Given the description of an element on the screen output the (x, y) to click on. 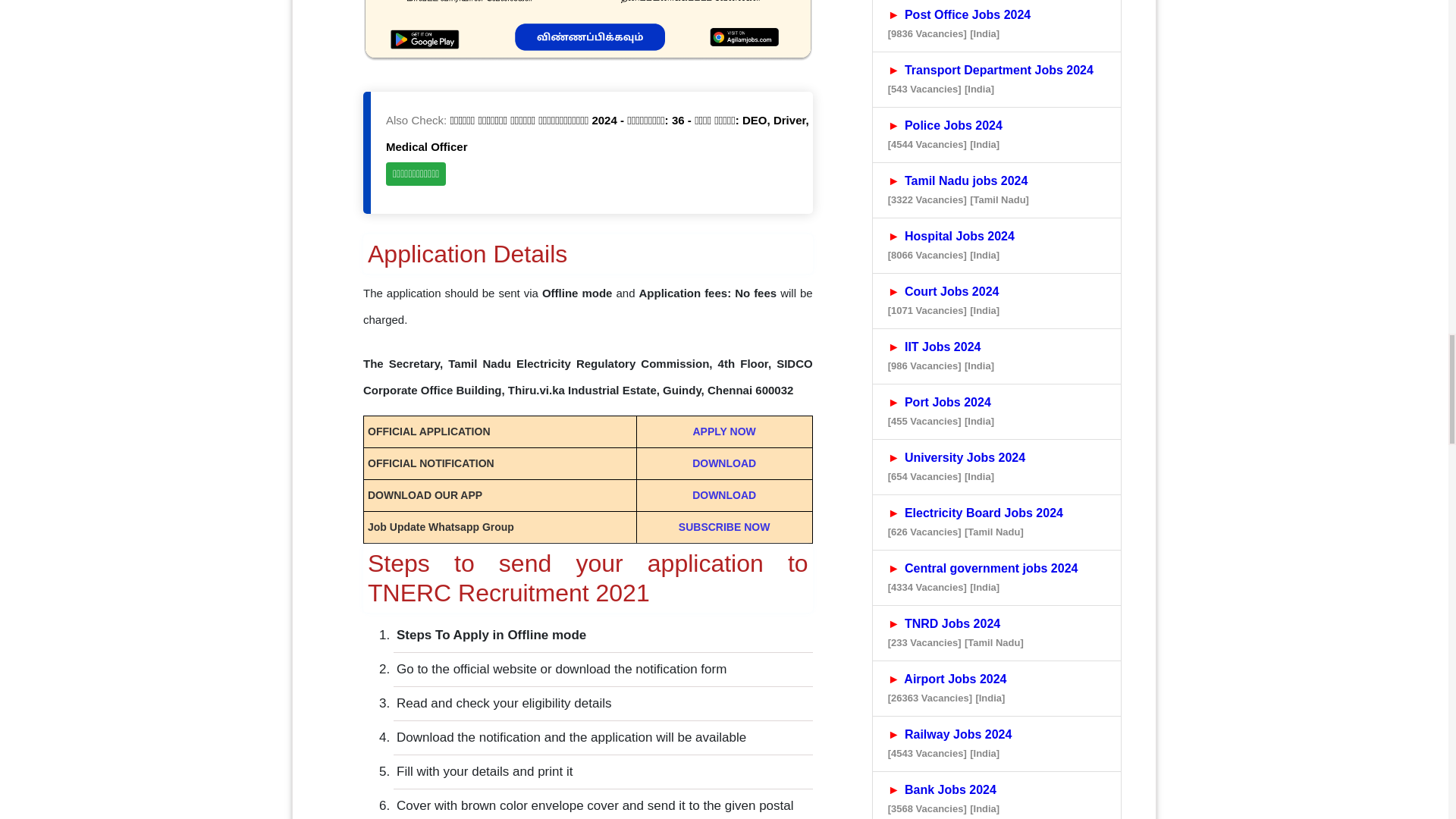
DOWNLOAD (724, 463)
APPLY NOW (724, 431)
DOWNLOAD (724, 494)
SUBSCRIBE NOW (724, 526)
TNERC Recruitment 2021 - Various Director Vacancy (587, 30)
